Given the description of an element on the screen output the (x, y) to click on. 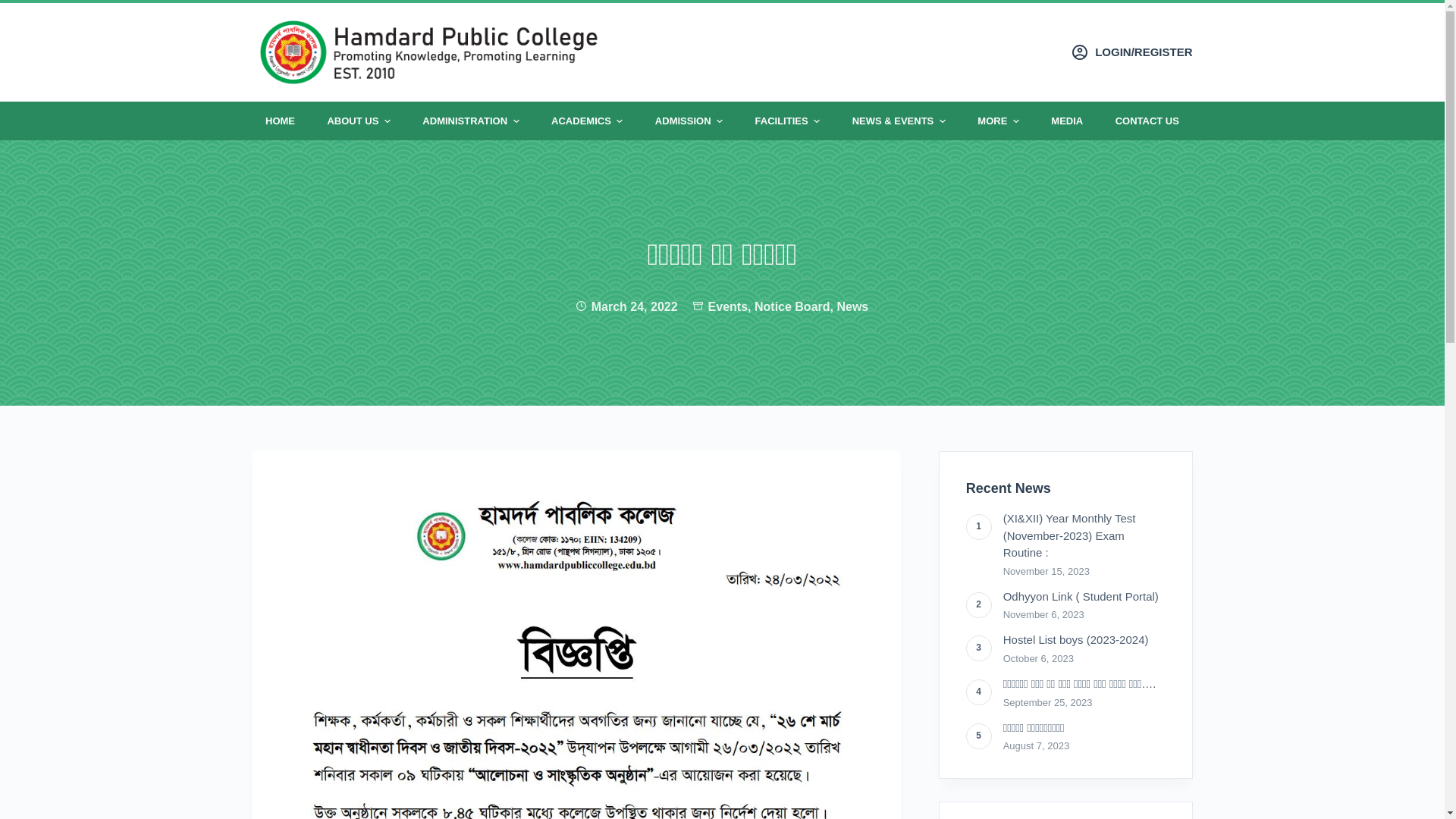
Odhyyon Link ( Student Portal)
November 6, 2023 Element type: text (1065, 606)
Events Element type: text (727, 306)
CONTACT US Element type: text (1146, 121)
LOGIN/REGISTER Element type: text (1132, 52)
FACILITIES Element type: text (787, 121)
NEWS & EVENTS Element type: text (898, 121)
MEDIA Element type: text (1066, 121)
ACADEMICS Element type: text (587, 121)
ABOUT US Element type: text (358, 121)
Hostel List boys (2023-2024)
October 6, 2023 Element type: text (1065, 649)
News Element type: text (852, 306)
HOME Element type: text (279, 121)
Notice Board Element type: text (792, 306)
Skip to content Element type: text (15, 7)
ADMISSION Element type: text (688, 121)
MORE Element type: text (998, 121)
ADMINISTRATION Element type: text (470, 121)
